Given the description of an element on the screen output the (x, y) to click on. 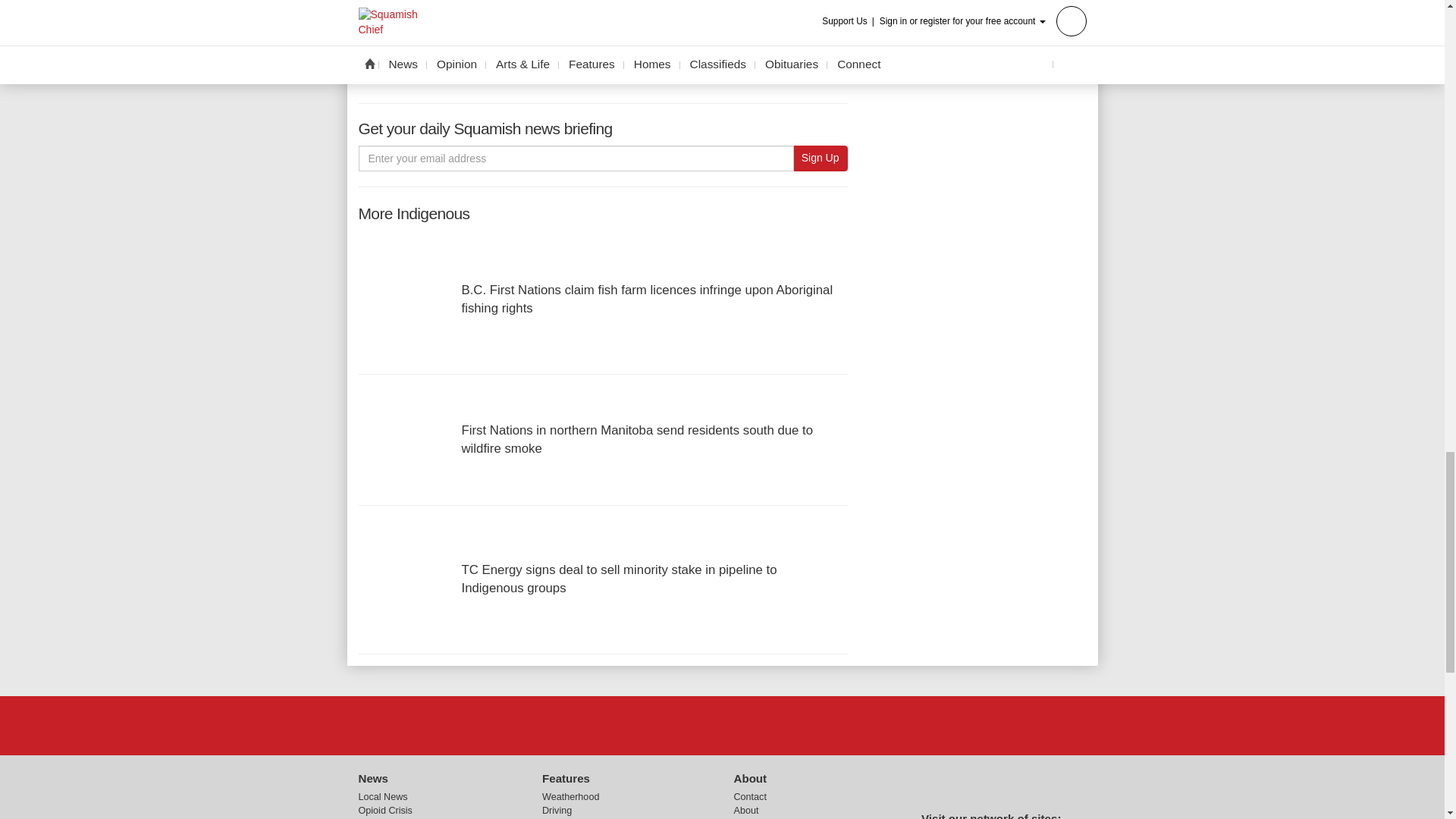
Instagram (760, 725)
X (721, 725)
Facebook (683, 725)
